Given the description of an element on the screen output the (x, y) to click on. 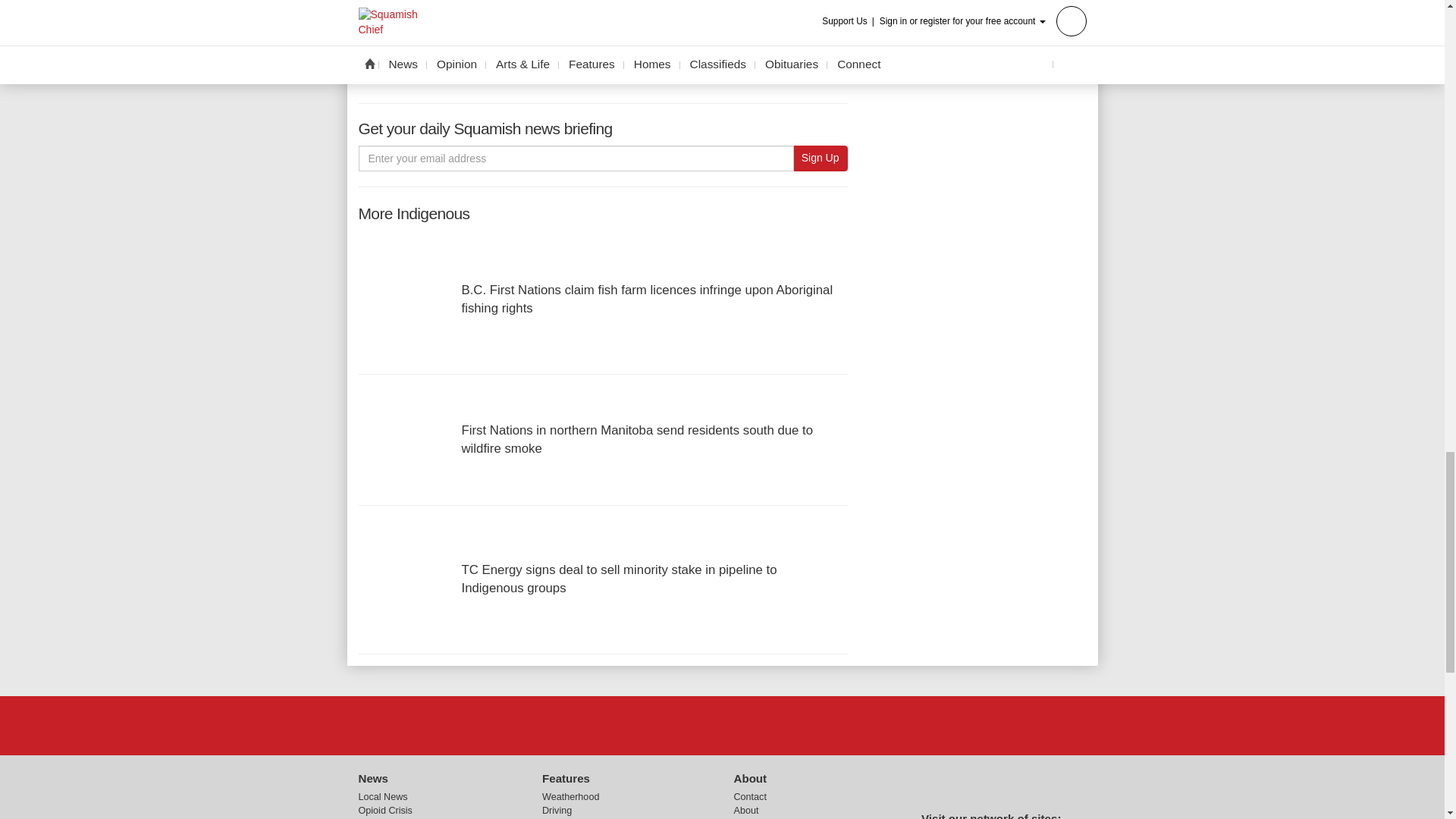
Instagram (760, 725)
X (721, 725)
Facebook (683, 725)
